Given the description of an element on the screen output the (x, y) to click on. 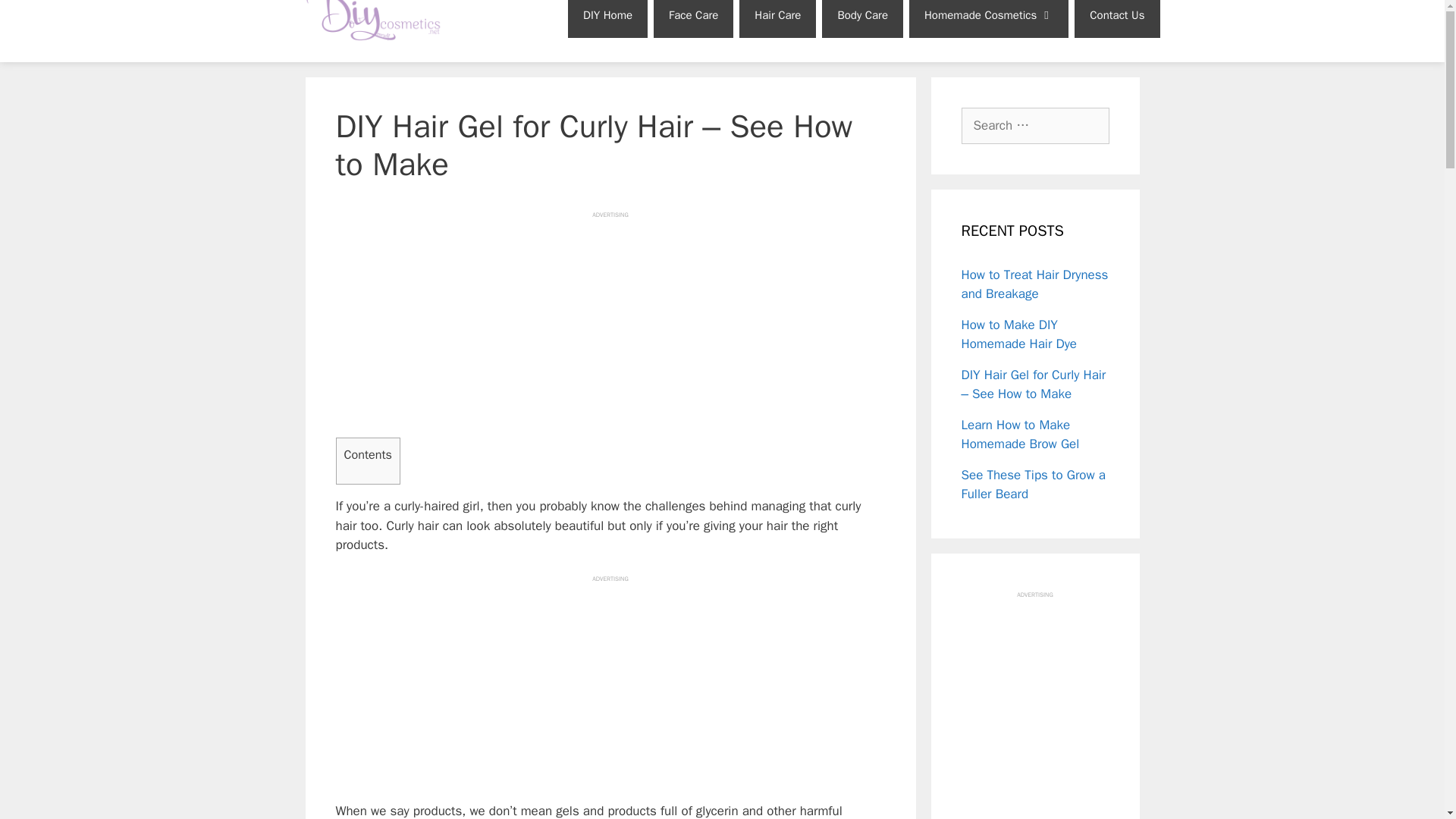
See These Tips to Grow a Fuller Beard (1033, 484)
Hair Care (777, 18)
Contact Us (1116, 18)
How to Make DIY Homemade Hair Dye (1018, 334)
Learn How to Make Homemade Brow Gel (1020, 434)
How to Treat Hair Dryness and Breakage (1034, 284)
Homemade Cosmetics (988, 18)
Search for: (1034, 125)
DIY Home (607, 18)
Search (35, 18)
Face Care (693, 18)
Body Care (862, 18)
